Given the description of an element on the screen output the (x, y) to click on. 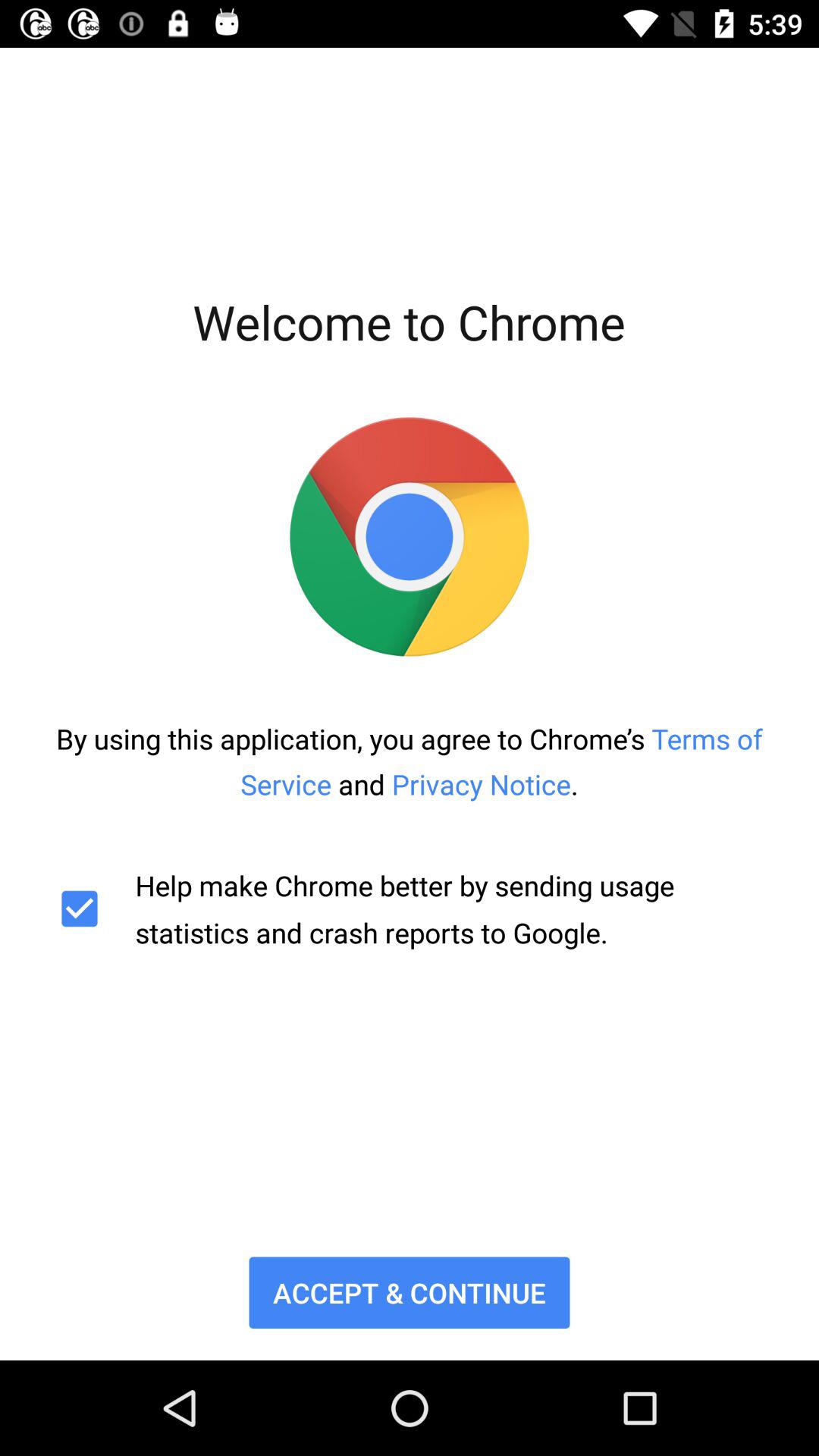
turn off icon above the help make chrome item (409, 761)
